Given the description of an element on the screen output the (x, y) to click on. 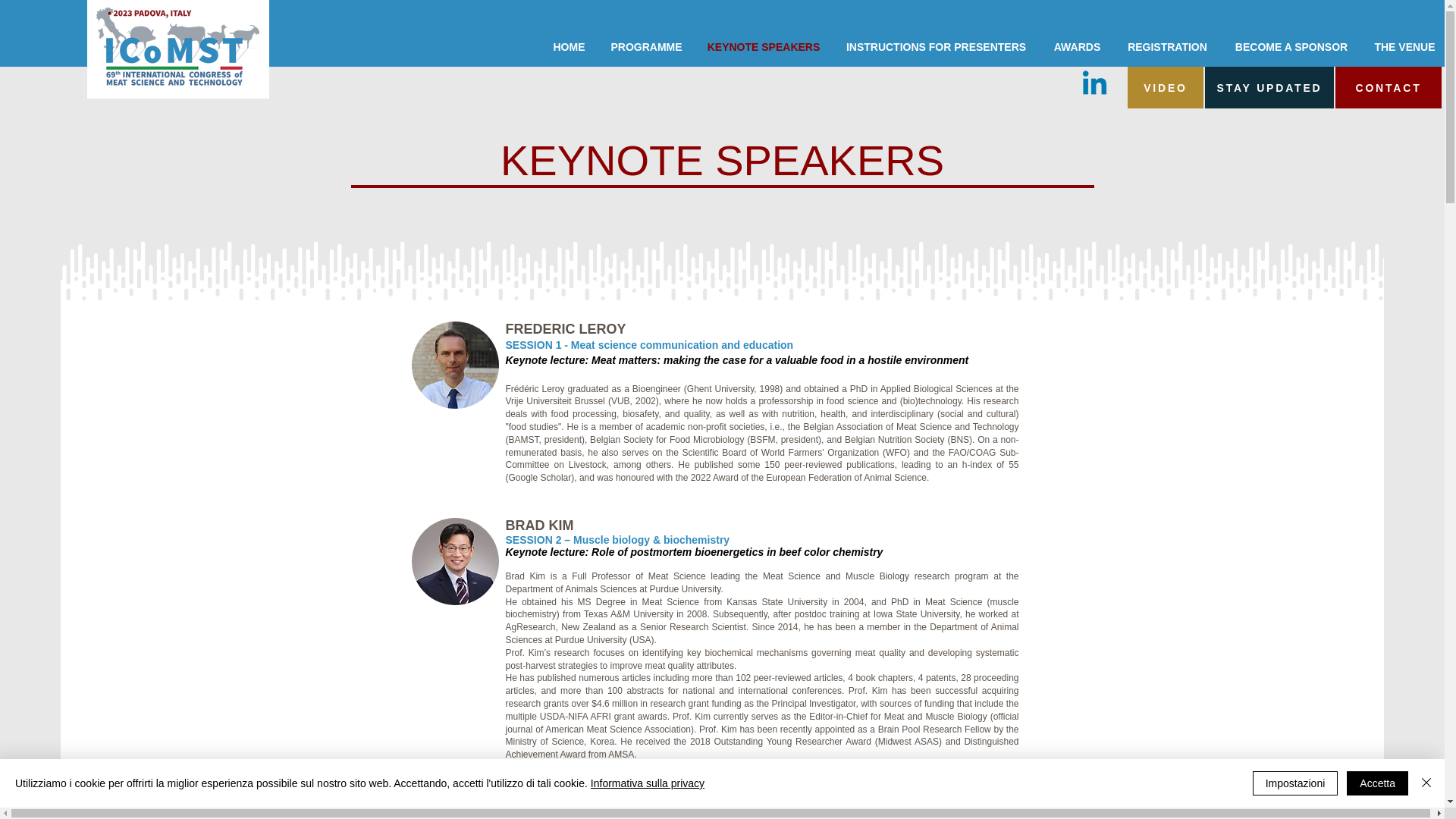
Informativa sulla privacy (647, 783)
KEYNOTE SPEAKERS (763, 46)
REGISTRATION (1167, 46)
HOME (568, 46)
AWARDS (1077, 46)
CONTACT (1388, 87)
INSTRUCTIONS FOR PRESENTERS (936, 46)
BECOME A SPONSOR (1291, 46)
VIDEO (1165, 87)
Impostazioni (1295, 783)
